Given the description of an element on the screen output the (x, y) to click on. 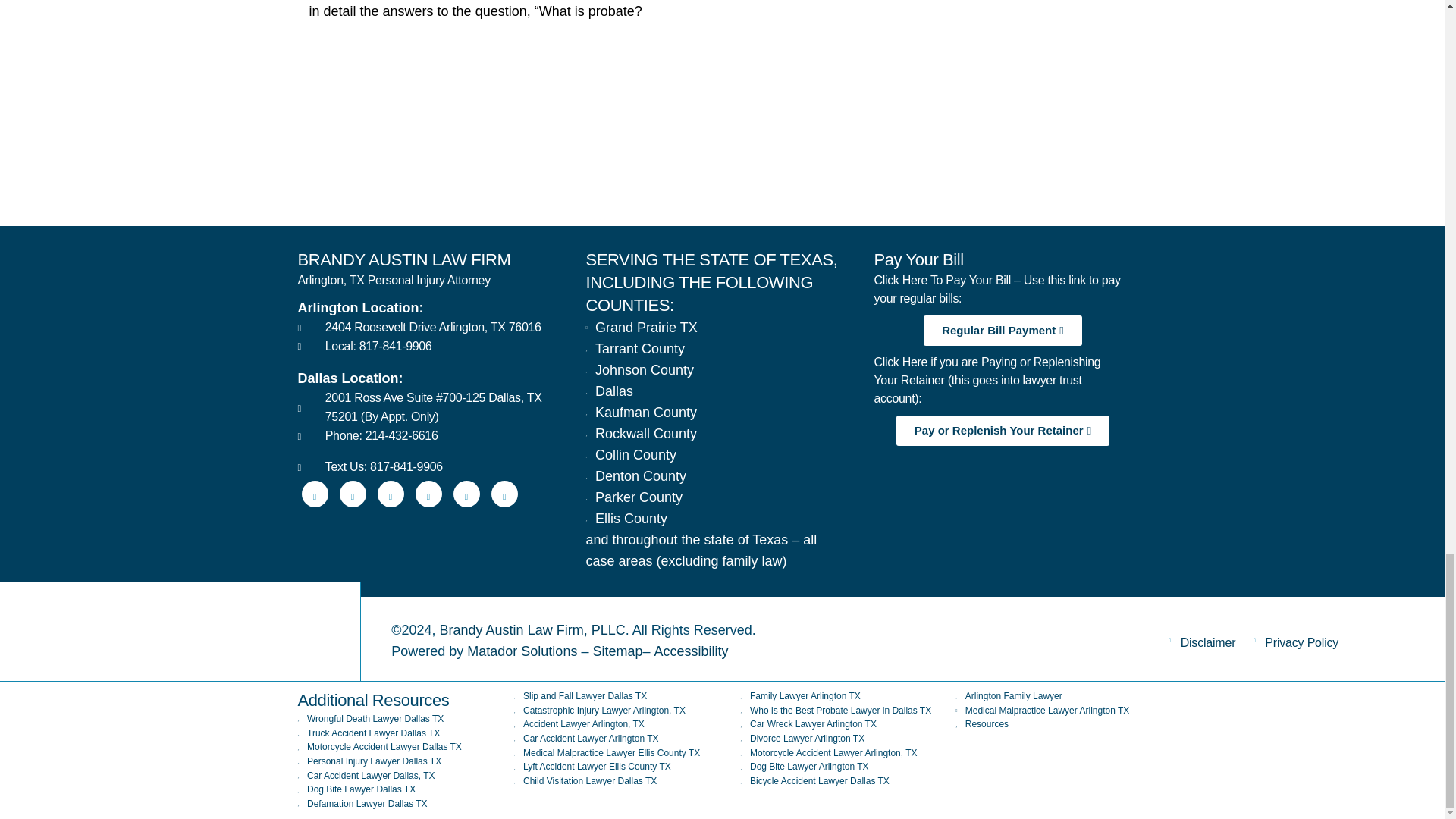
American Institution of Legal Counsel (858, 161)
Avvo Rating - Top Attorney (380, 161)
Super Lawyers (619, 161)
NAELA (1097, 161)
